Given the description of an element on the screen output the (x, y) to click on. 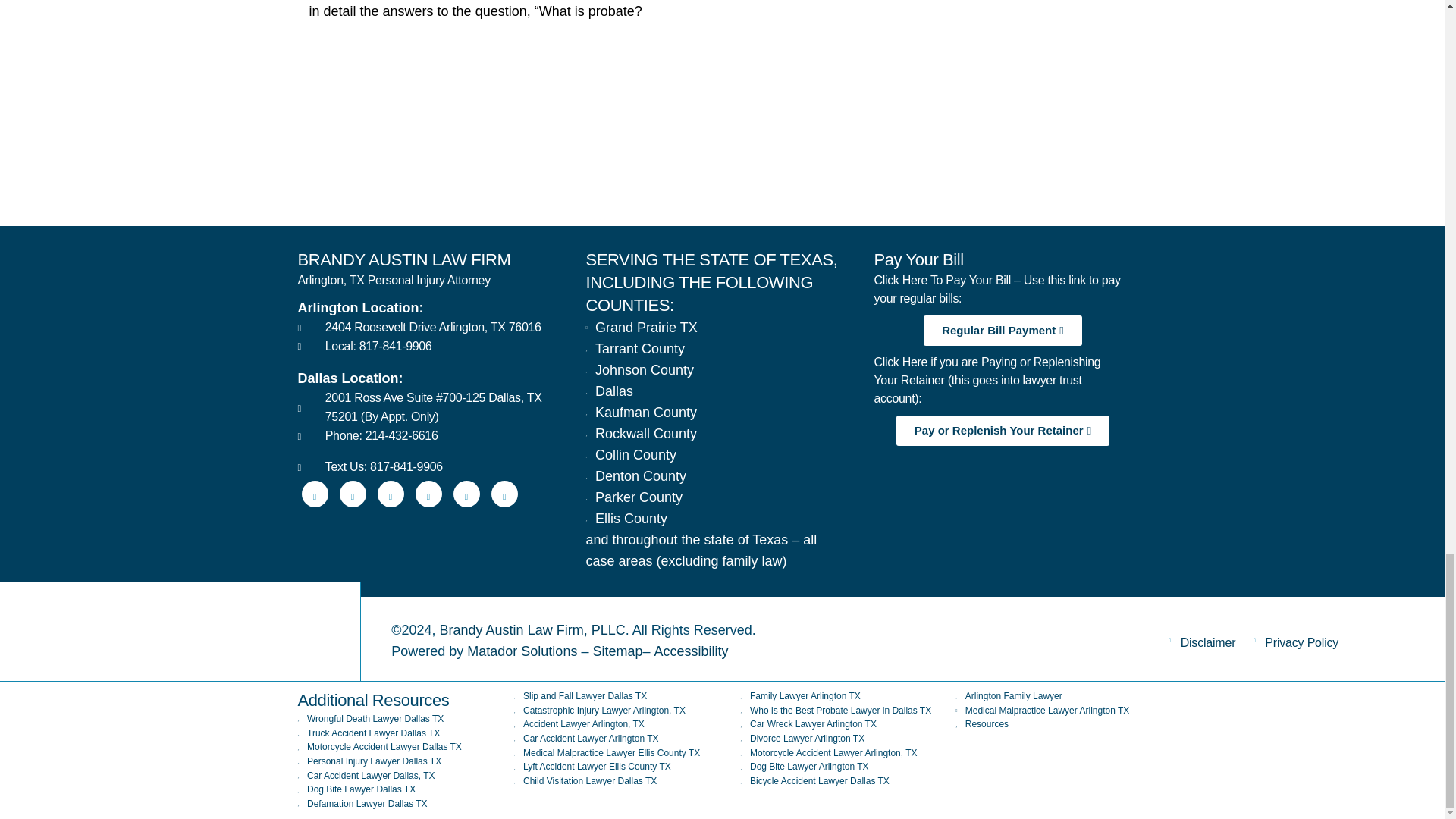
American Institution of Legal Counsel (858, 161)
Avvo Rating - Top Attorney (380, 161)
Super Lawyers (619, 161)
NAELA (1097, 161)
